Given the description of an element on the screen output the (x, y) to click on. 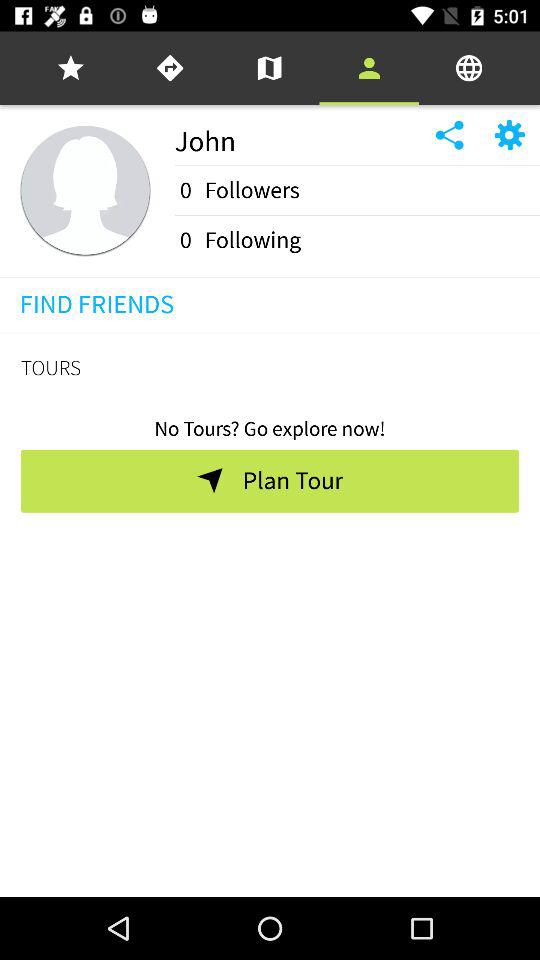
turn off the john (296, 135)
